Given the description of an element on the screen output the (x, y) to click on. 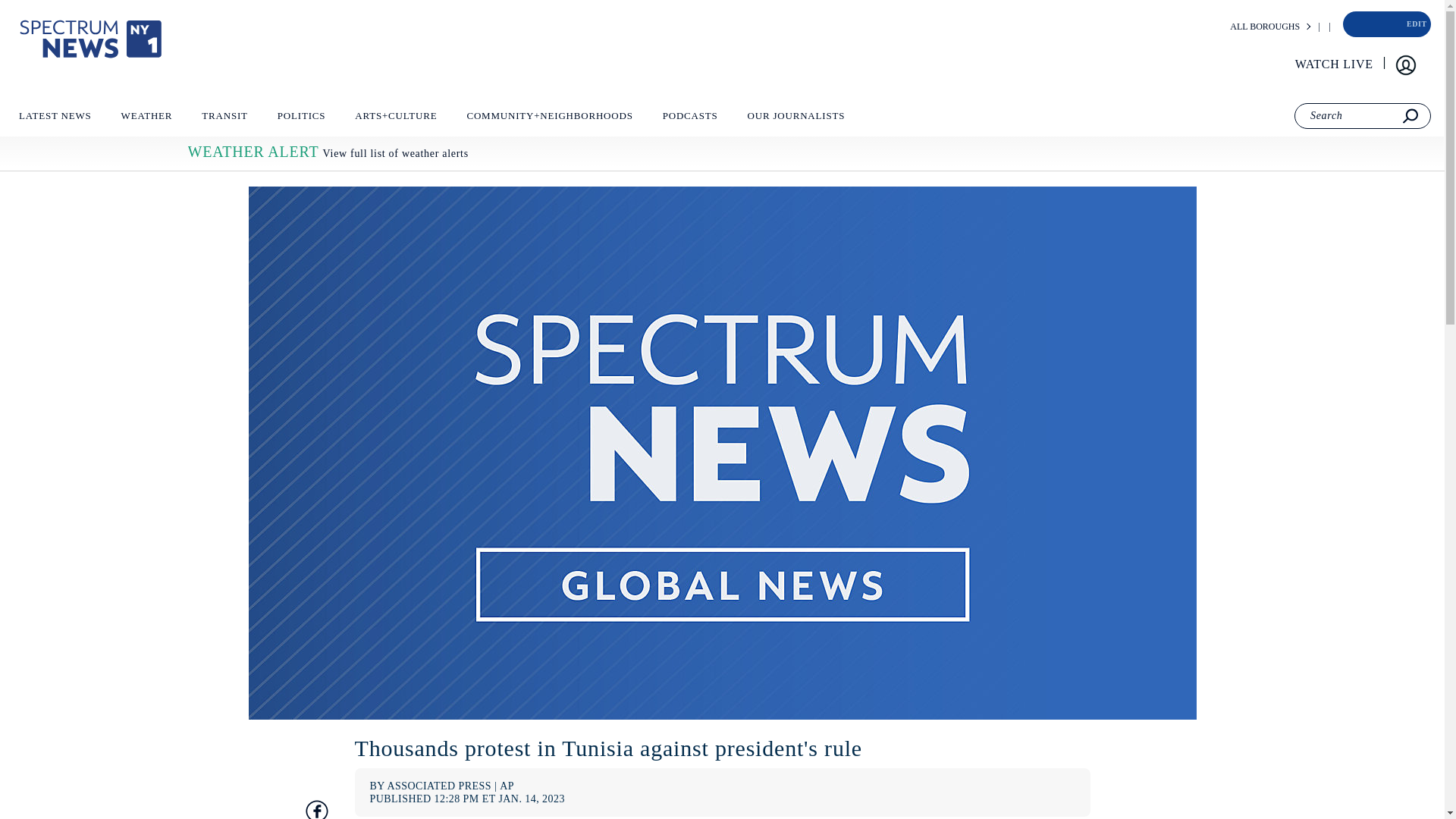
ALL BOROUGHS (1265, 26)
WEATHER (146, 119)
WATCH LIVE (1334, 64)
Share with Facebook (315, 809)
LATEST NEWS (55, 119)
